Given the description of an element on the screen output the (x, y) to click on. 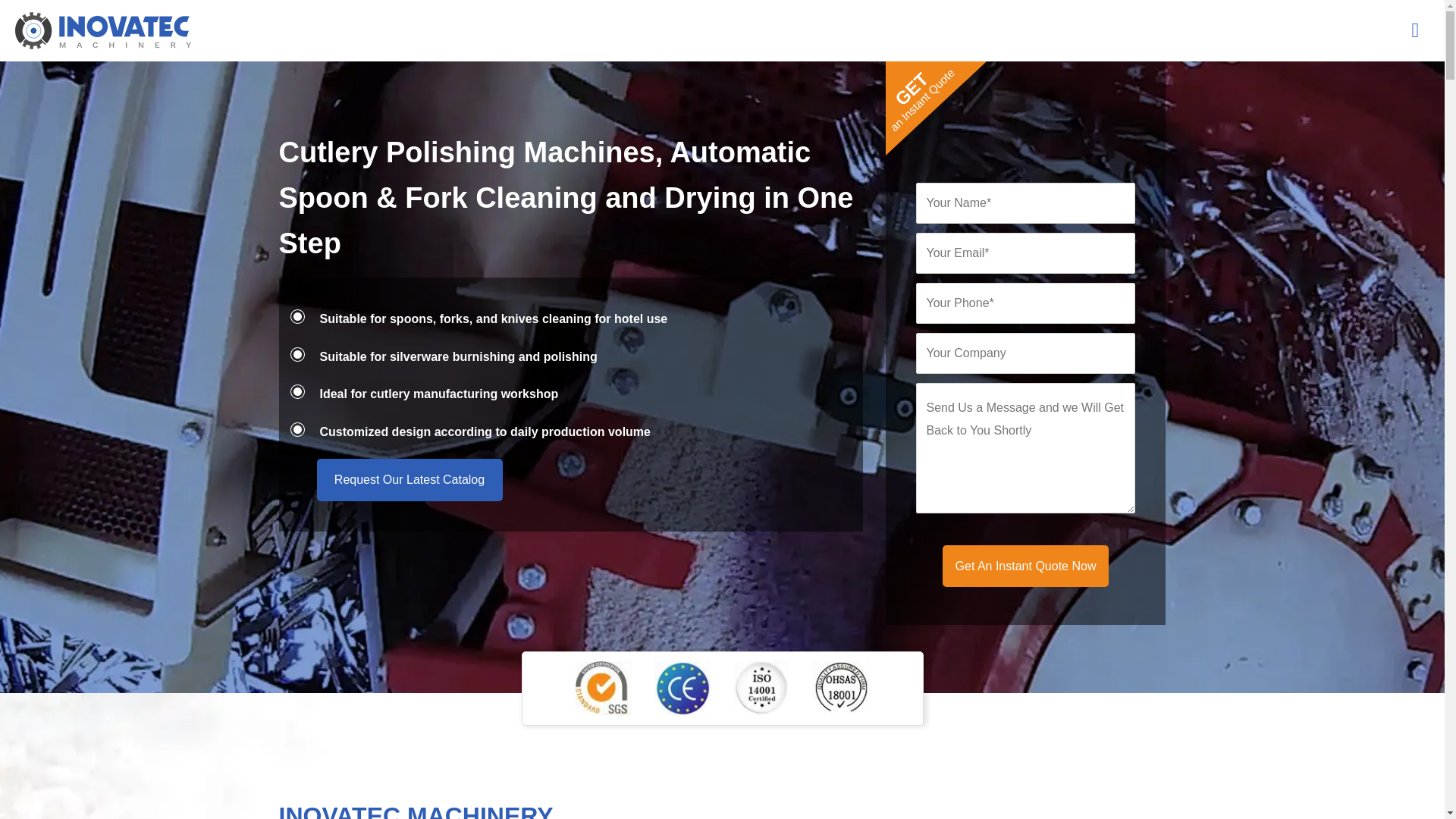
Get An Instant Quote Now (1025, 566)
